Given the description of an element on the screen output the (x, y) to click on. 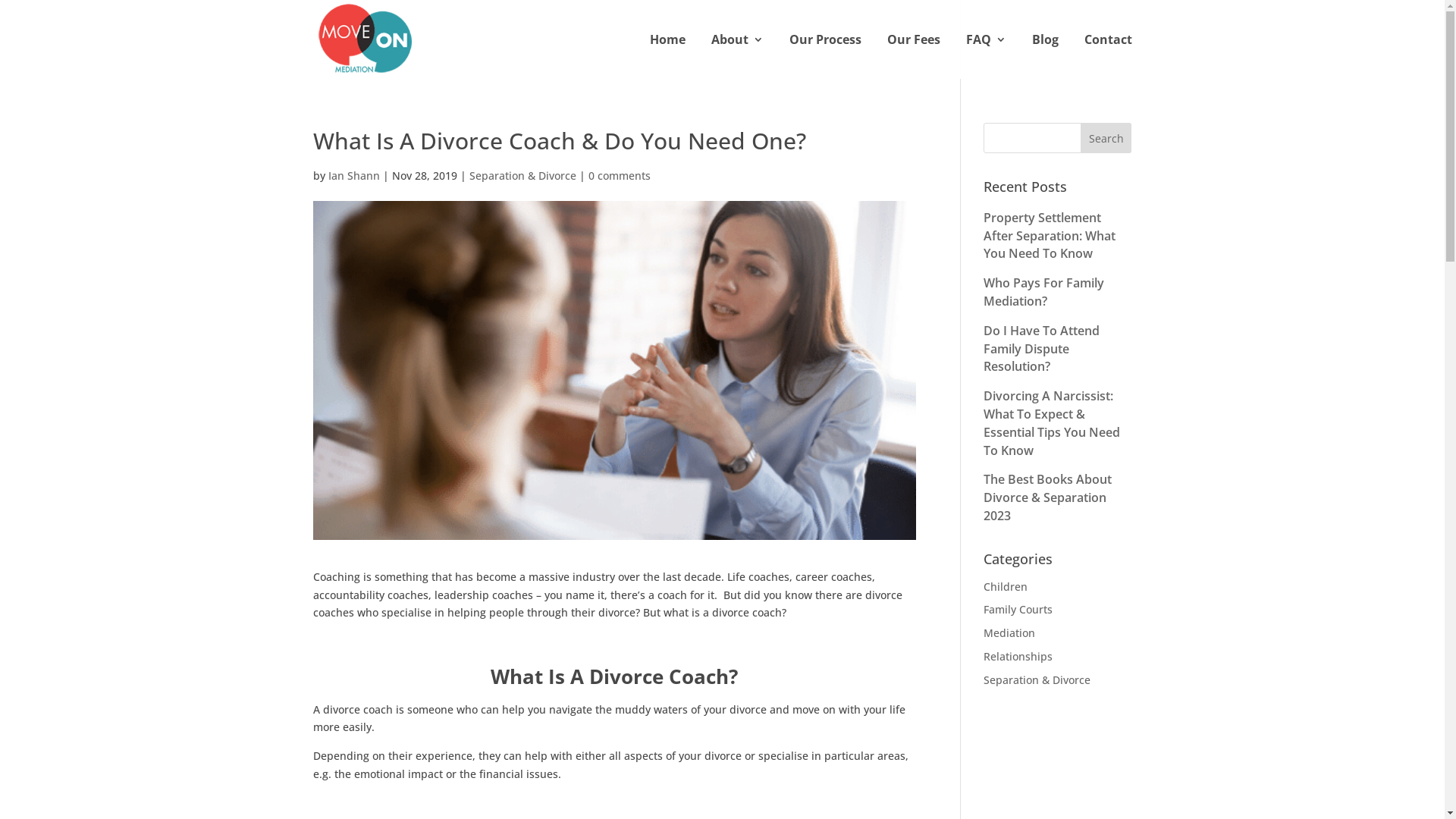
Our Process Element type: text (824, 56)
Home Element type: text (666, 56)
Contact Element type: text (1108, 56)
About Element type: text (737, 56)
Our Fees Element type: text (913, 56)
Separation & Divorce Element type: text (1036, 679)
Search Element type: text (1106, 137)
Relationships Element type: text (1017, 656)
Mediation Element type: text (1009, 632)
Ian Shann Element type: text (353, 175)
The Best Books About Divorce & Separation 2023 Element type: text (1047, 497)
0 comments Element type: text (619, 175)
Separation & Divorce Element type: text (521, 175)
Family Courts Element type: text (1017, 609)
Do I Have To Attend Family Dispute Resolution? Element type: text (1041, 348)
Children Element type: text (1005, 586)
Who Pays For Family Mediation? Element type: text (1043, 291)
Blog Element type: text (1044, 56)
Property Settlement After Separation: What You Need To Know Element type: text (1049, 235)
FAQ Element type: text (986, 56)
